Given the description of an element on the screen output the (x, y) to click on. 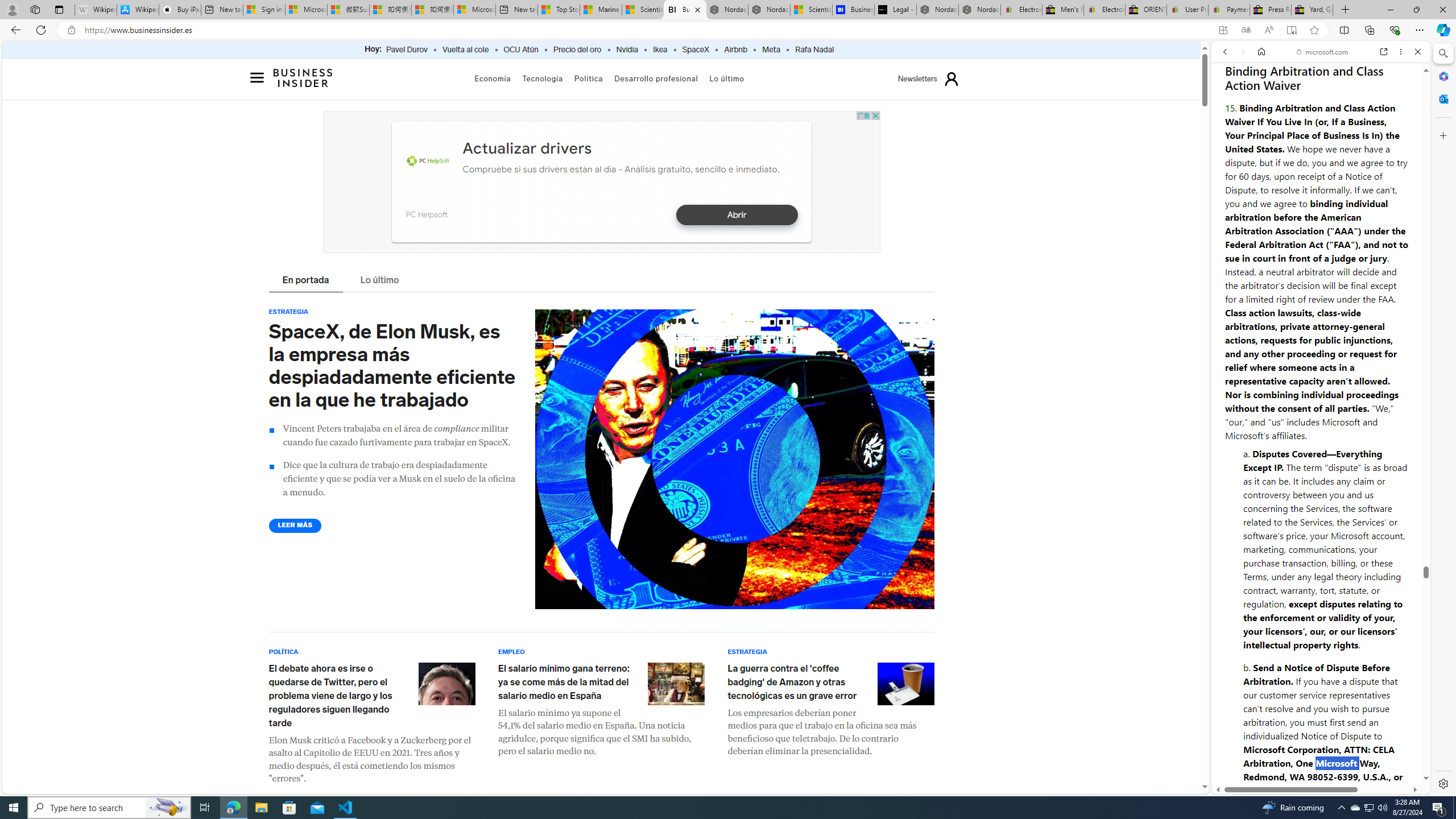
Precio del oro (577, 49)
Rafa Nadal (814, 49)
Minimize Search pane (1442, 53)
Rafa Nadal (814, 49)
Logo BusinessInsider.es (303, 80)
